Given the description of an element on the screen output the (x, y) to click on. 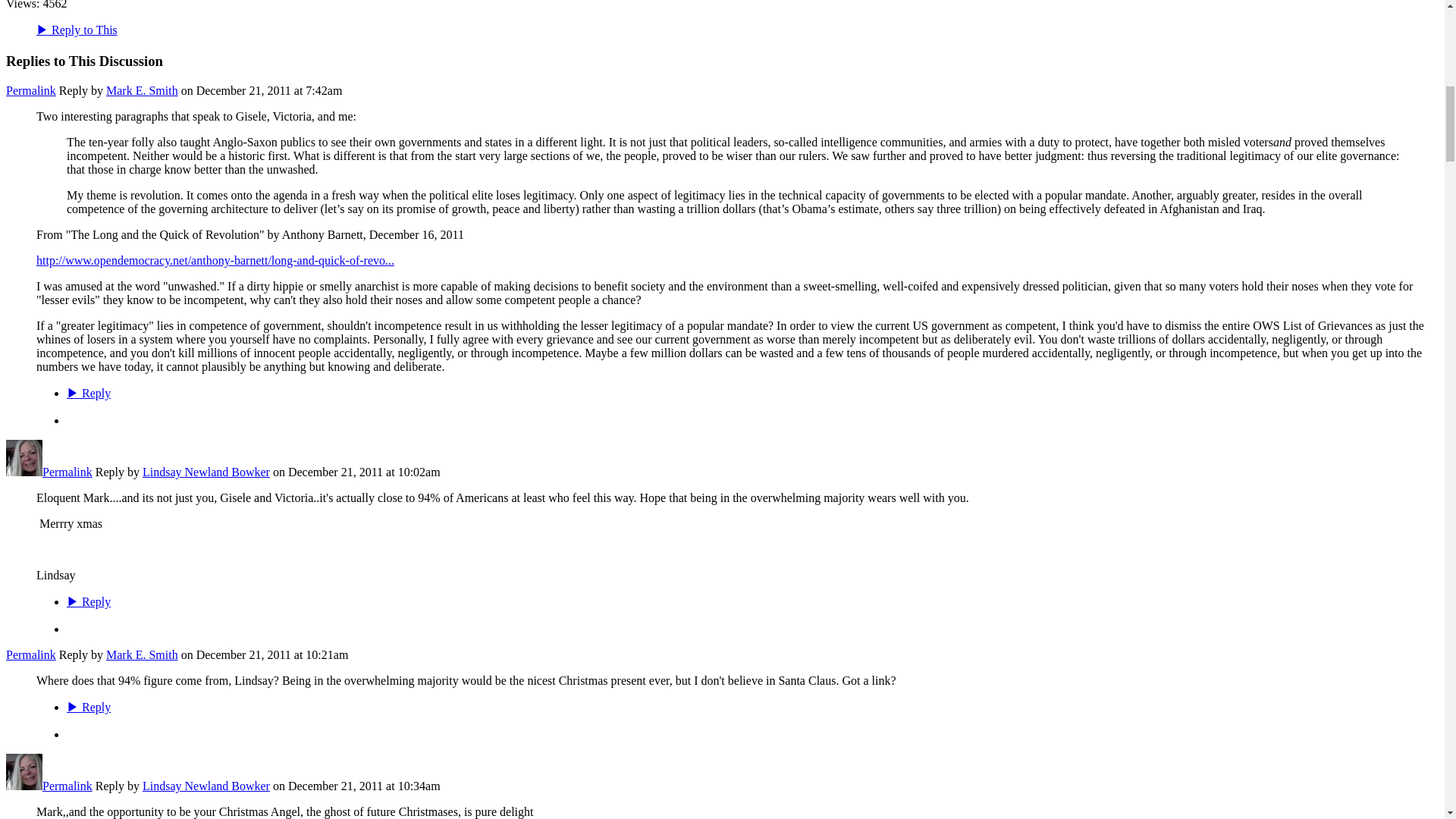
Permalink to this Reply (30, 90)
Permalink to this Reply (67, 472)
Lindsay Newland Bowker (23, 472)
Lindsay Newland Bowker (23, 785)
Permalink to this Reply (30, 654)
Permalink to this Reply (67, 785)
